Given the description of an element on the screen output the (x, y) to click on. 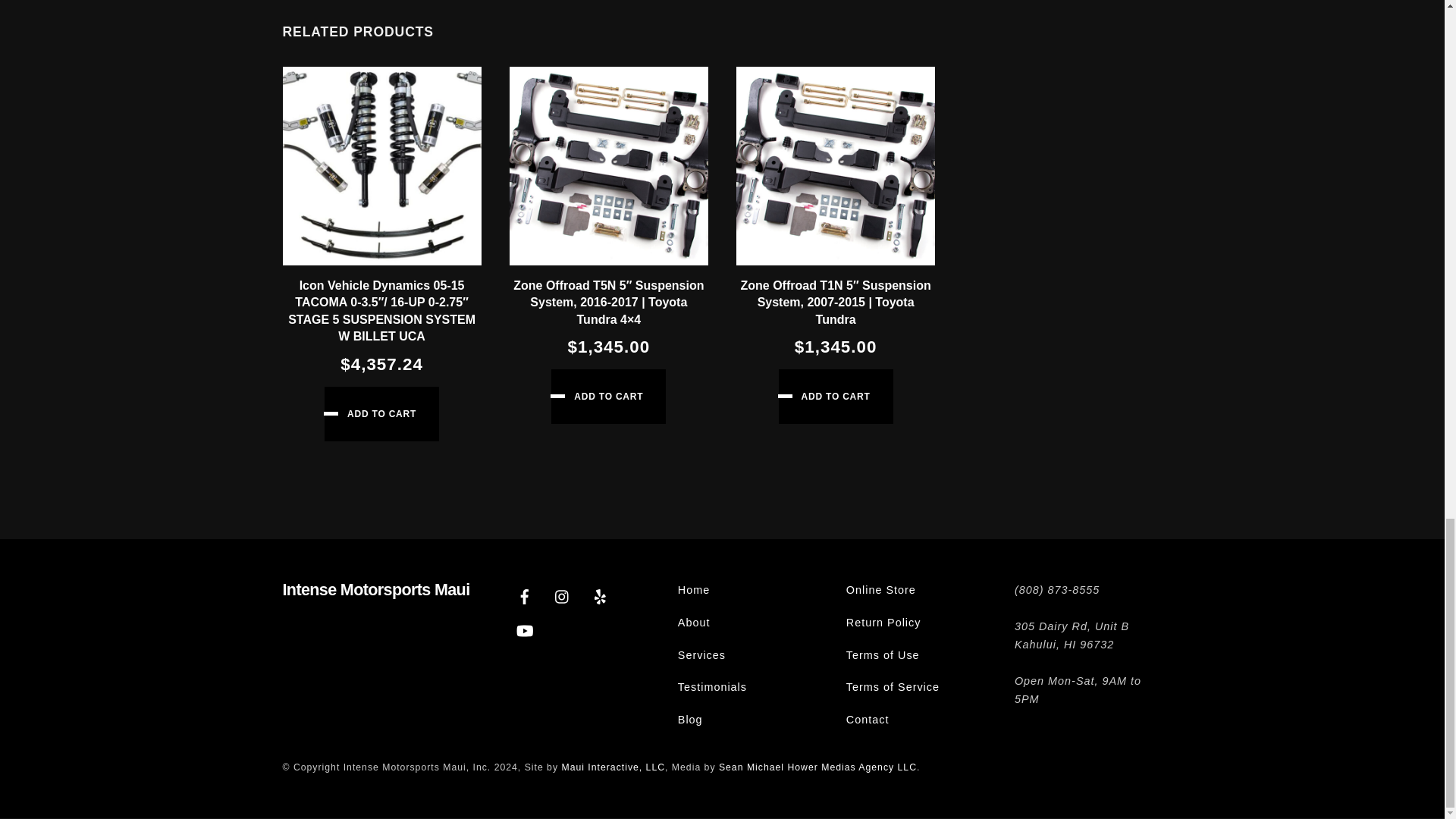
t1 (608, 165)
t1 (835, 165)
Intense Motorsports Maui (375, 588)
